Given the description of an element on the screen output the (x, y) to click on. 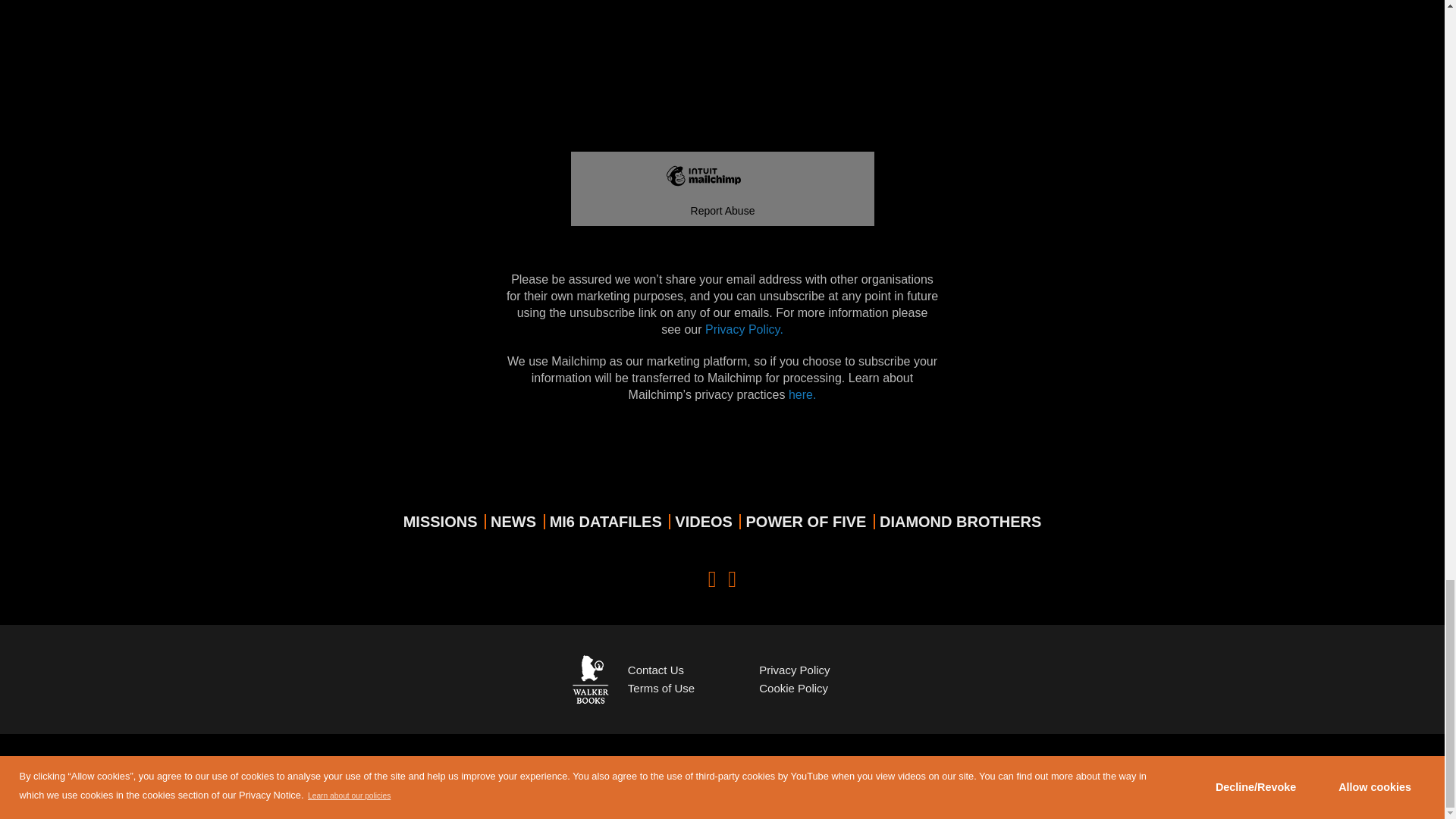
POWER OF FIVE (805, 521)
VIDEOS (703, 521)
MISSIONS (440, 521)
Privacy Policy. (743, 328)
MI6 DATAFILES (606, 521)
here. (802, 394)
NEWS (512, 521)
